Given the description of an element on the screen output the (x, y) to click on. 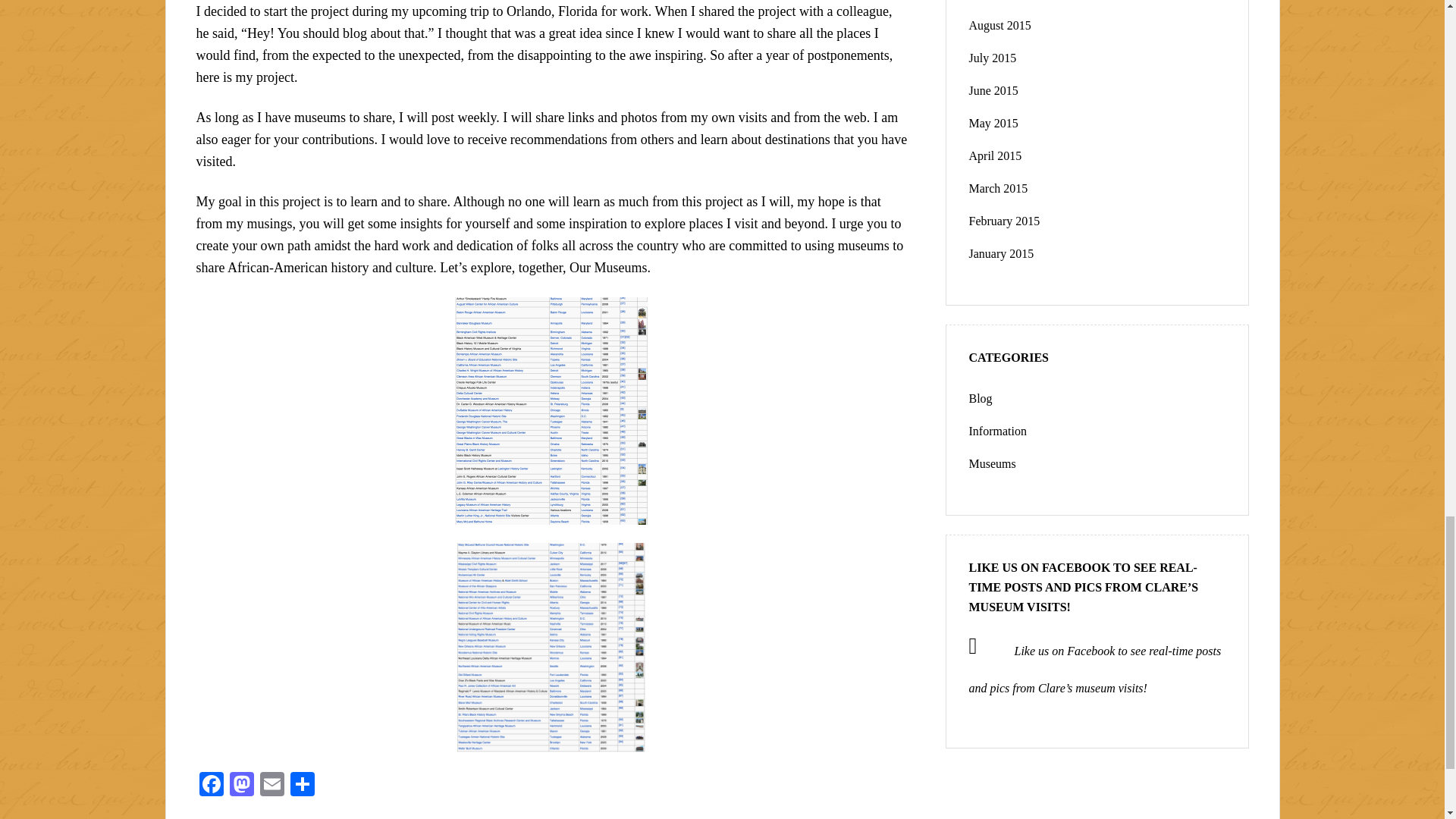
Email (271, 786)
Facebook (210, 786)
Email (271, 786)
Mastodon (240, 786)
Share (301, 786)
Mastodon (240, 786)
Facebook (210, 786)
